Given the description of an element on the screen output the (x, y) to click on. 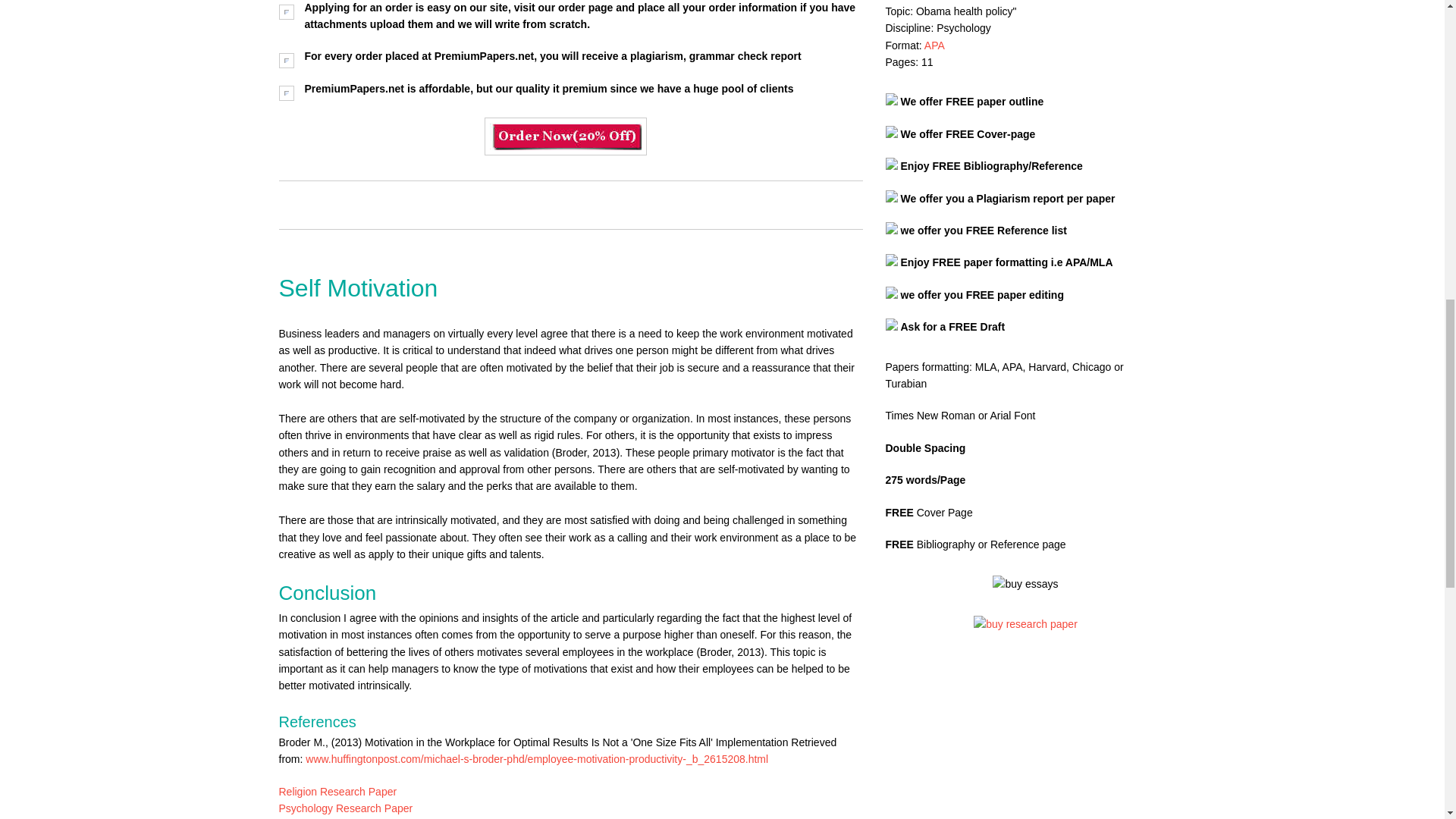
Psychology Research Paper (346, 808)
Religion Research Paper (338, 791)
APA (934, 45)
buy essays (1025, 583)
